Given the description of an element on the screen output the (x, y) to click on. 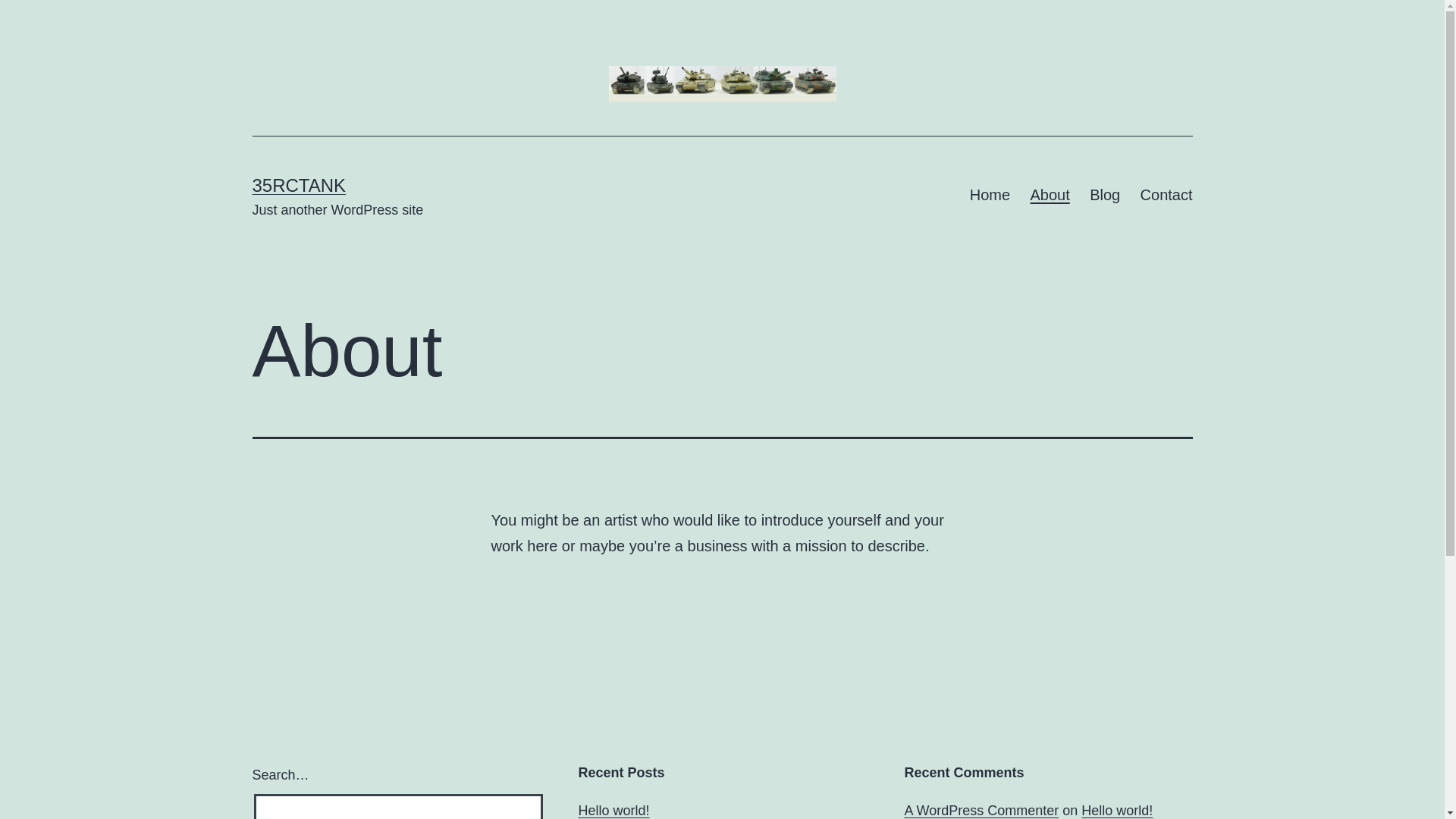
Contact Element type: text (1165, 194)
Blog Element type: text (1104, 194)
A WordPress Commenter Element type: text (980, 810)
Hello world! Element type: text (1116, 810)
Hello world! Element type: text (613, 810)
Home Element type: text (990, 194)
35RCTANK Element type: text (298, 185)
About Element type: text (1049, 194)
